Given the description of an element on the screen output the (x, y) to click on. 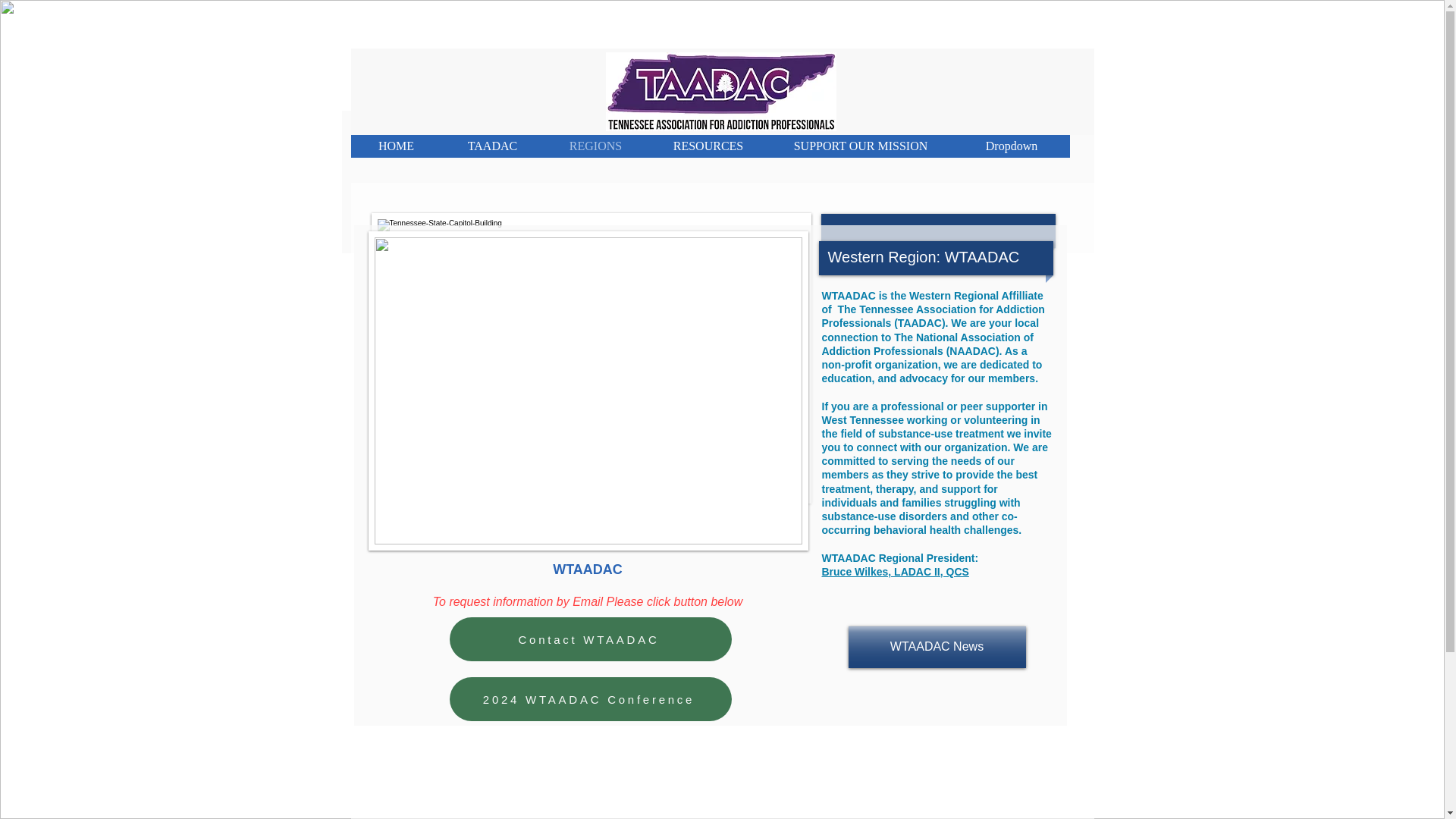
2024 WTAADAC Conference (589, 699)
RESOURCES (707, 146)
HOME (395, 146)
Contact WTAADAC (589, 638)
SUPPORT OUR MISSION (859, 146)
WTAADAC News (936, 647)
REGIONS (595, 146)
Bruce Wilkes, LADAC II, QCS (895, 571)
